Given the description of an element on the screen output the (x, y) to click on. 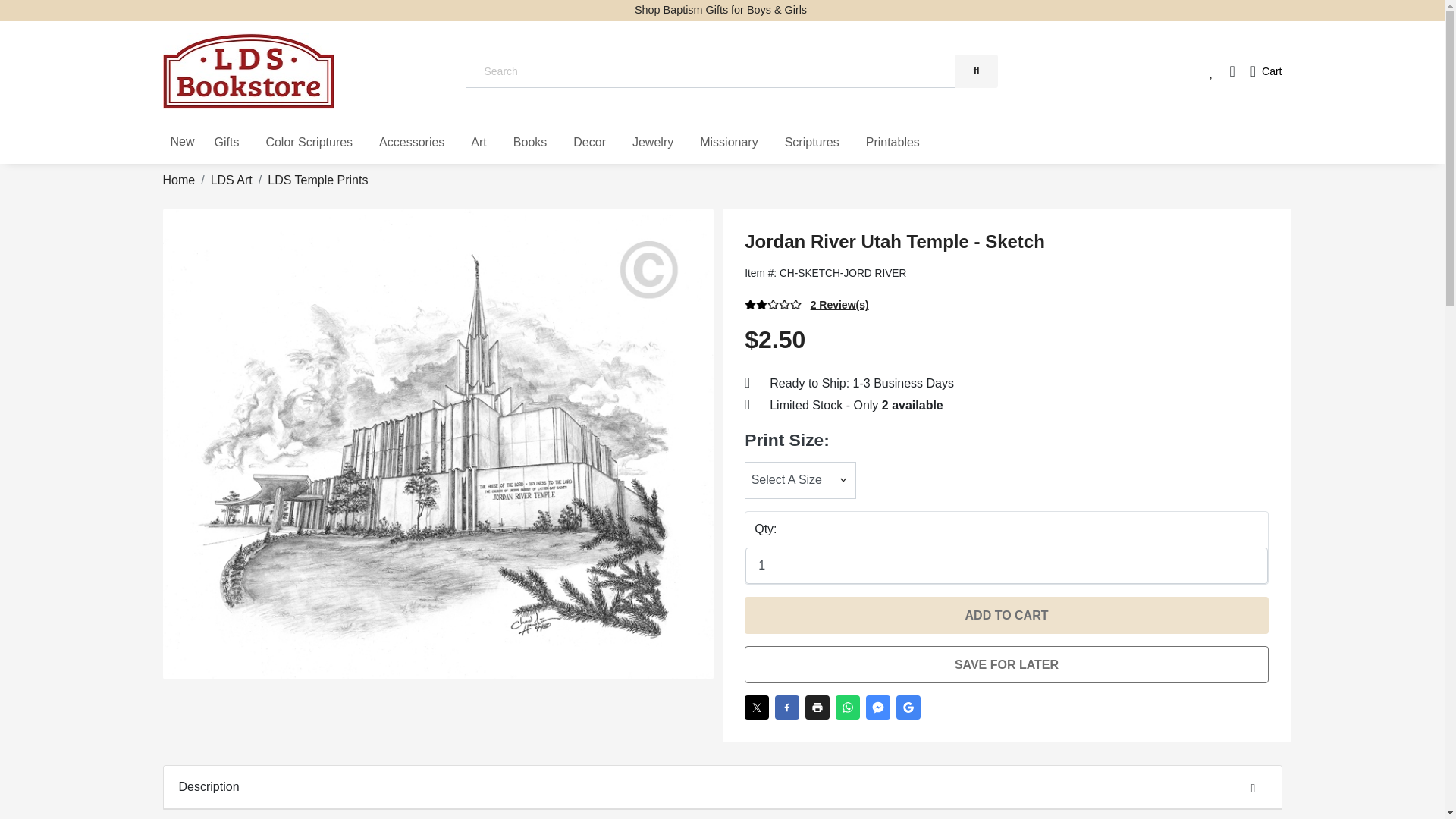
Color Scriptures (308, 142)
Save For Later (1006, 664)
Accessories (411, 142)
New (181, 141)
Add to Cart (1006, 615)
Gifts (227, 142)
1 (1006, 565)
